Given the description of an element on the screen output the (x, y) to click on. 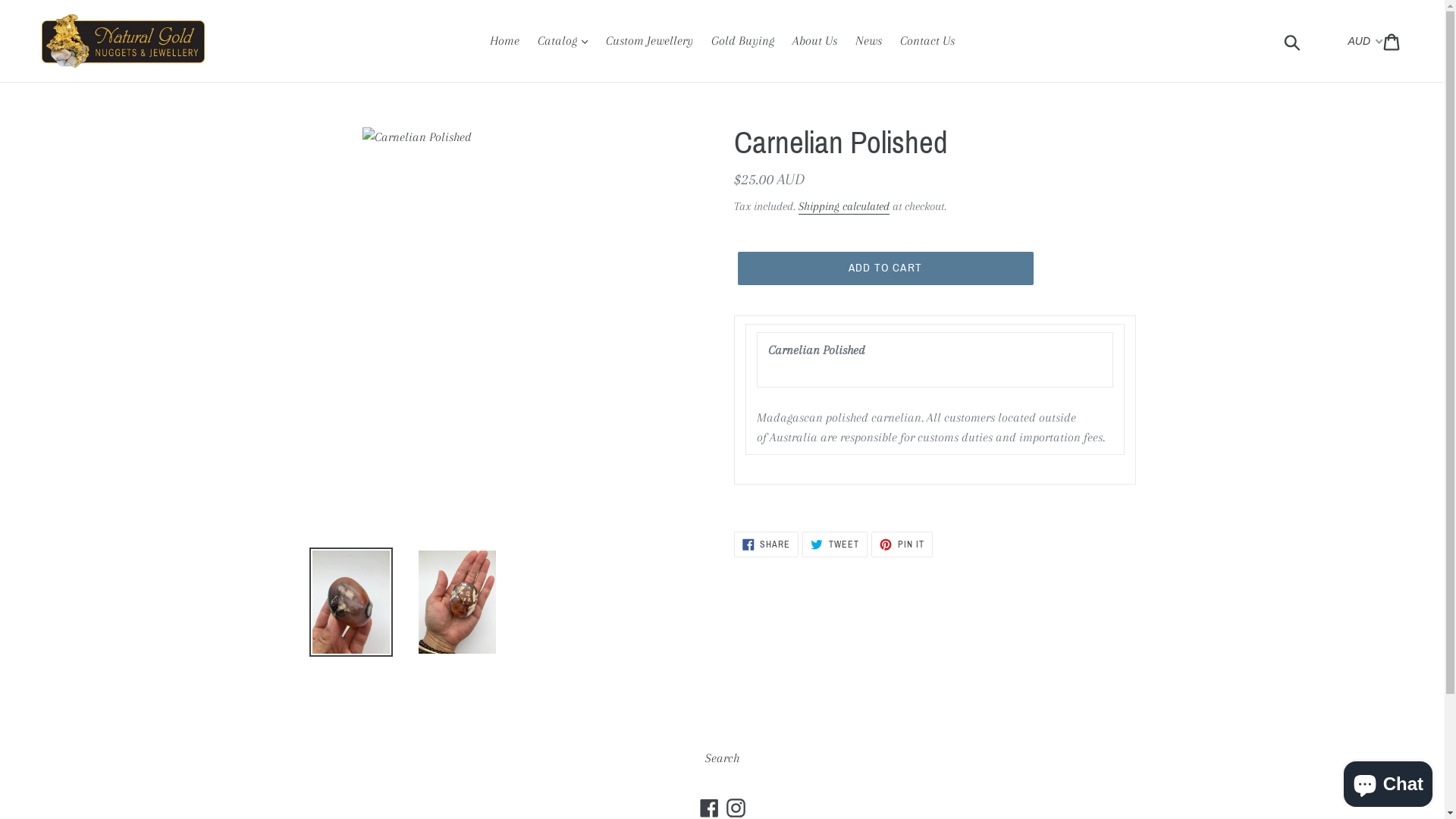
Cart Element type: text (1392, 40)
SHARE
SHARE ON FACEBOOK Element type: text (766, 544)
PIN IT
PIN ON PINTEREST Element type: text (901, 544)
Search Element type: text (722, 757)
Home Element type: text (504, 40)
Shipping calculated Element type: text (842, 205)
Gold Buying Element type: text (742, 40)
Instagram Element type: text (734, 807)
About Us Element type: text (814, 40)
Shopify online store chat Element type: hover (1388, 780)
Submit Element type: text (1292, 40)
ADD TO CART Element type: text (884, 267)
Contact Us Element type: text (927, 40)
News Element type: text (868, 40)
Custom Jewellery Element type: text (649, 40)
TWEET
TWEET ON TWITTER Element type: text (834, 544)
Facebook Element type: text (709, 807)
